Given the description of an element on the screen output the (x, y) to click on. 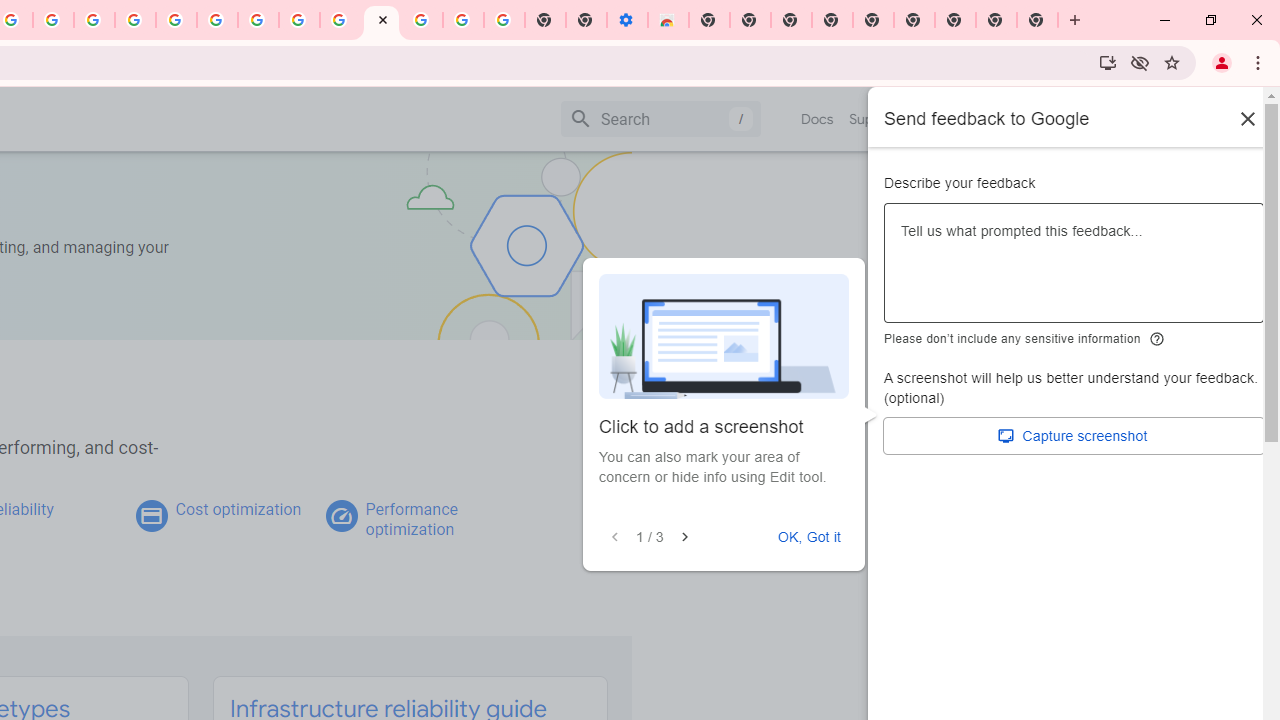
OK, Got it (809, 537)
Create your Google Account (299, 20)
Search (660, 118)
Install Google Cloud (1107, 62)
Docs (817, 119)
Sign in - Google Accounts (421, 20)
English (985, 118)
Sign in - Google Accounts (176, 20)
Cost optimization (238, 509)
Start free (1191, 118)
Capture screenshot (1074, 436)
New Tab (708, 20)
Support (874, 119)
